Given the description of an element on the screen output the (x, y) to click on. 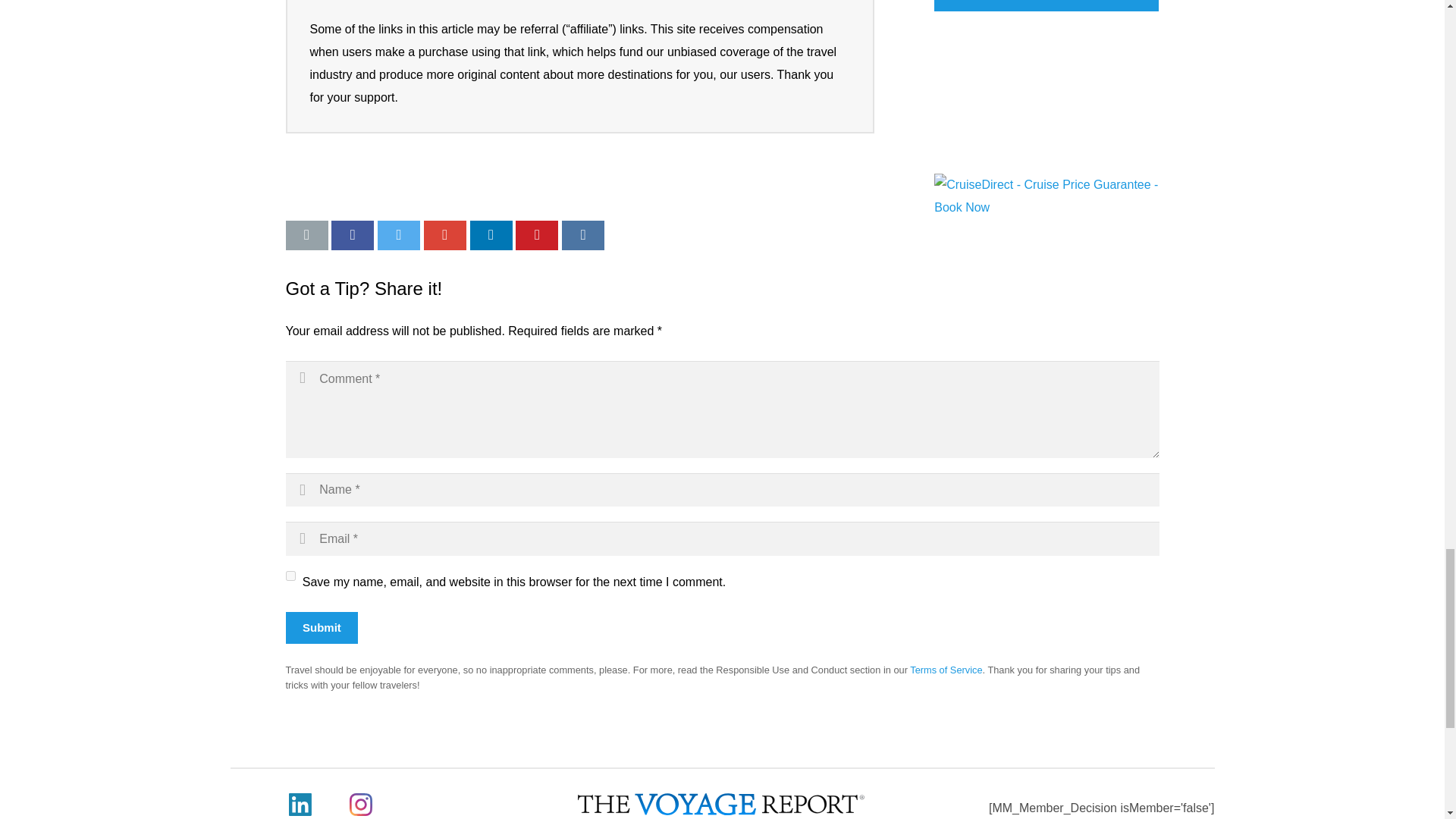
yes (290, 575)
Submit (321, 627)
Share this (352, 234)
Tweet this (398, 234)
Email this (306, 234)
